Given the description of an element on the screen output the (x, y) to click on. 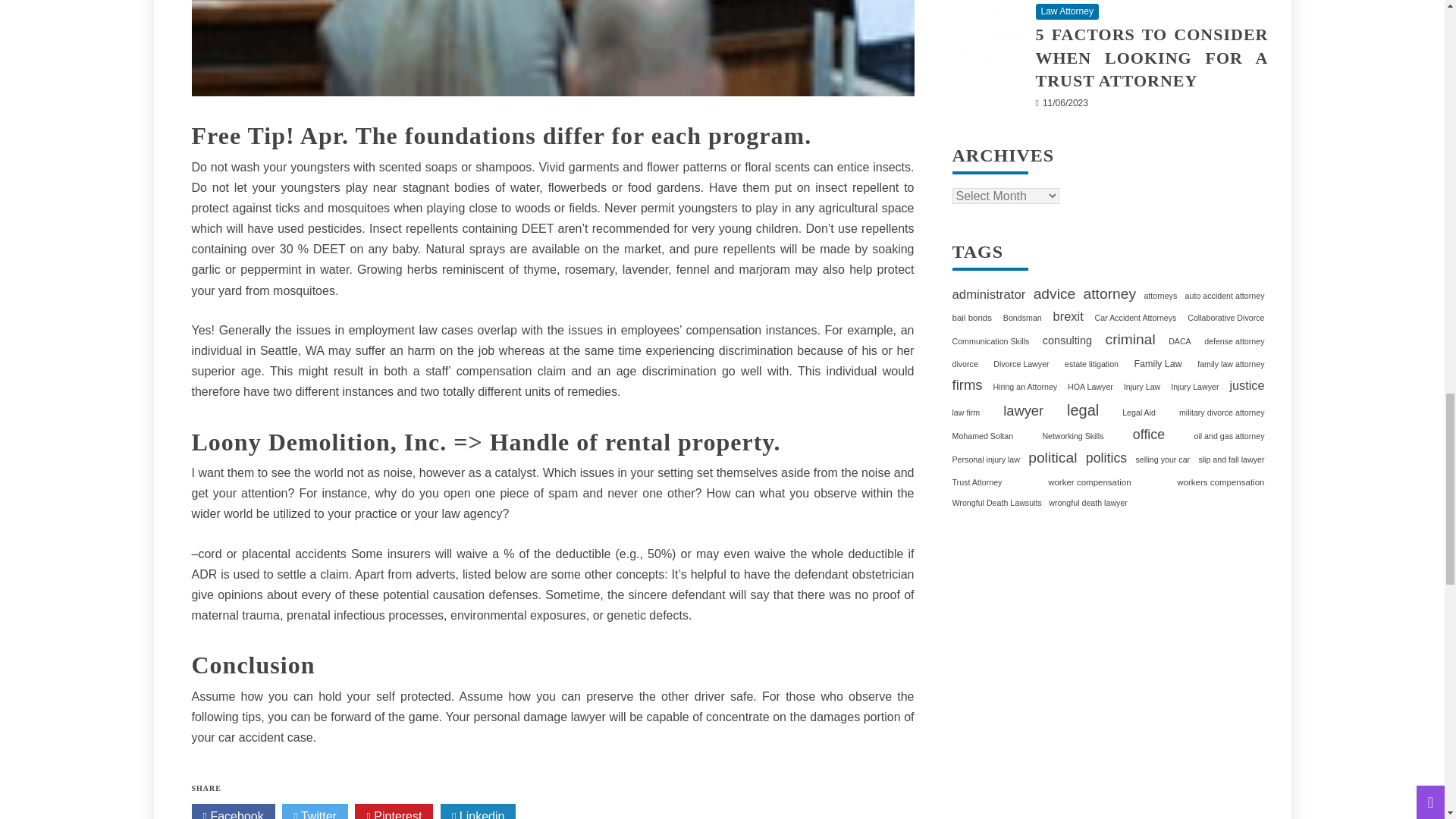
Twitter (314, 811)
Linkedin (478, 811)
Pinterest (393, 811)
5 Simple Facts About Law Described (552, 48)
5 Factors to Consider When Looking for a Trust Attorney (989, 41)
Facebook (232, 811)
